Given the description of an element on the screen output the (x, y) to click on. 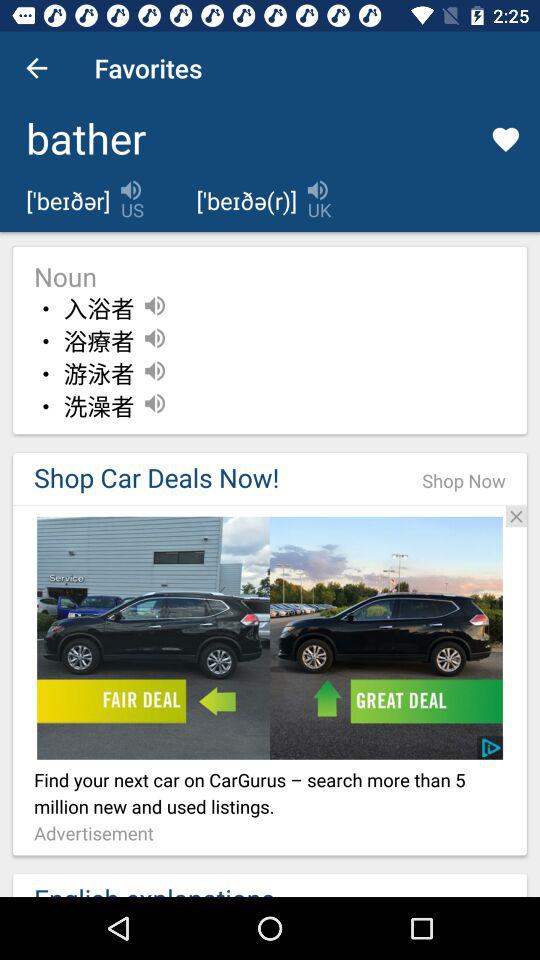
choose the shop car deals (207, 478)
